Given the description of an element on the screen output the (x, y) to click on. 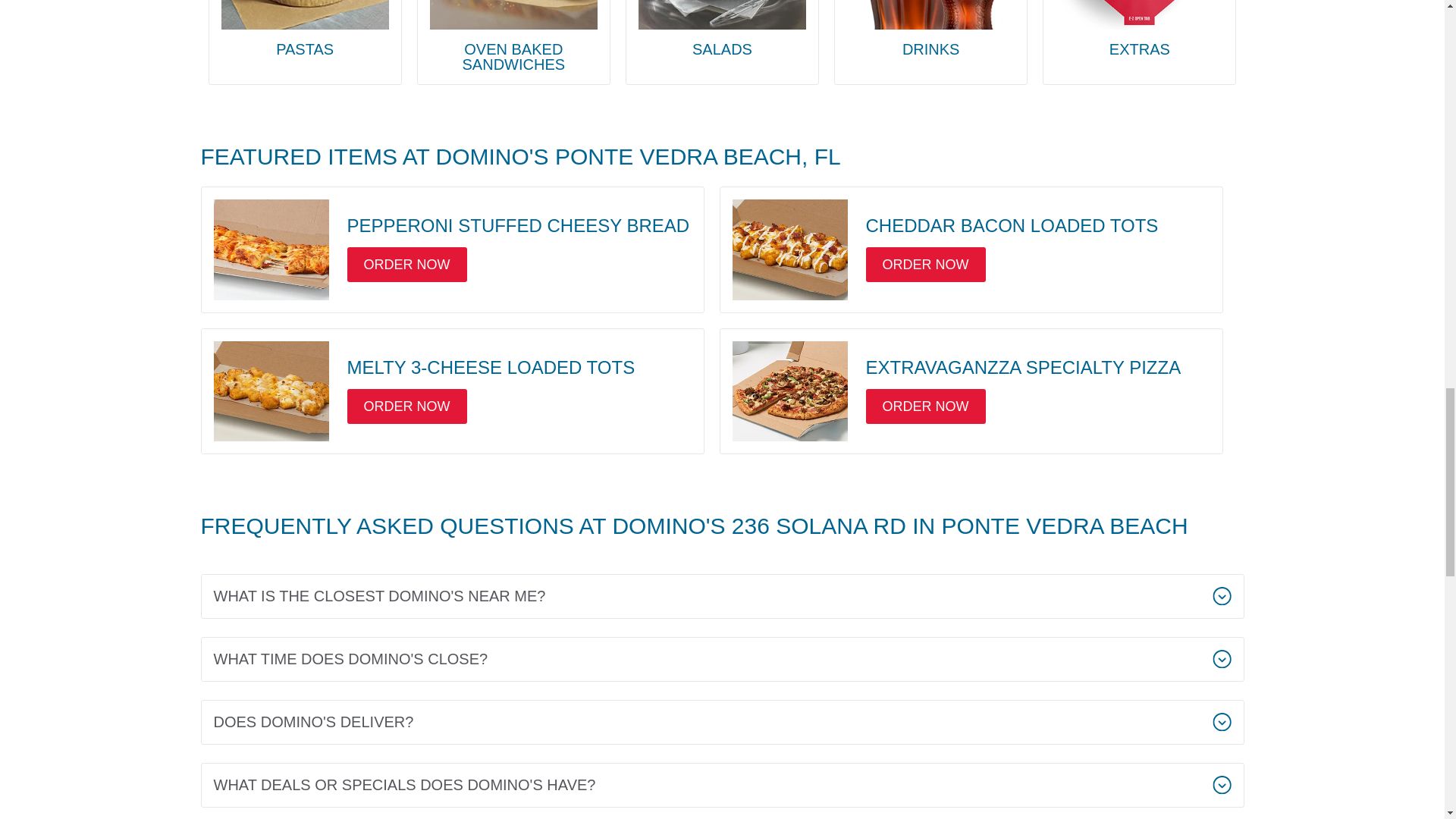
DRINKS (930, 28)
PASTAS (304, 28)
SALADS (722, 28)
OVEN BAKED SANDWICHES (512, 36)
